Given the description of an element on the screen output the (x, y) to click on. 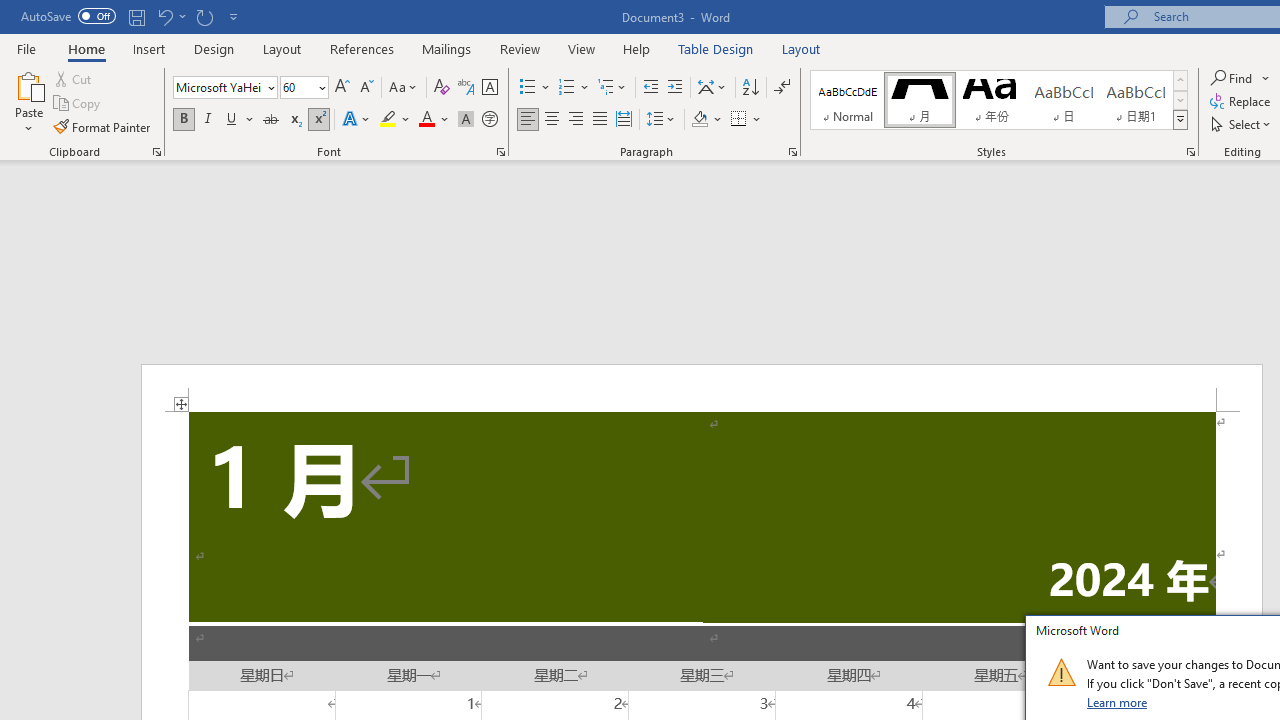
Learn more (1118, 702)
